Given the description of an element on the screen output the (x, y) to click on. 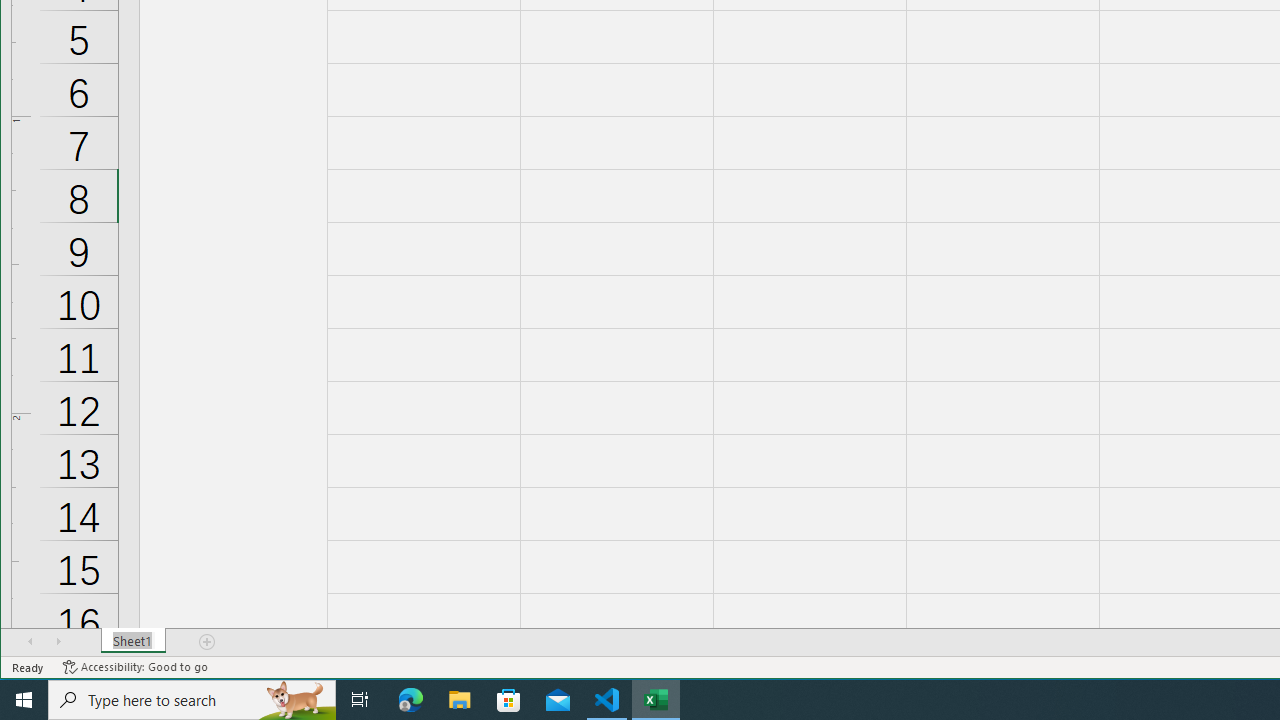
Sheet Tab (133, 641)
